Given the description of an element on the screen output the (x, y) to click on. 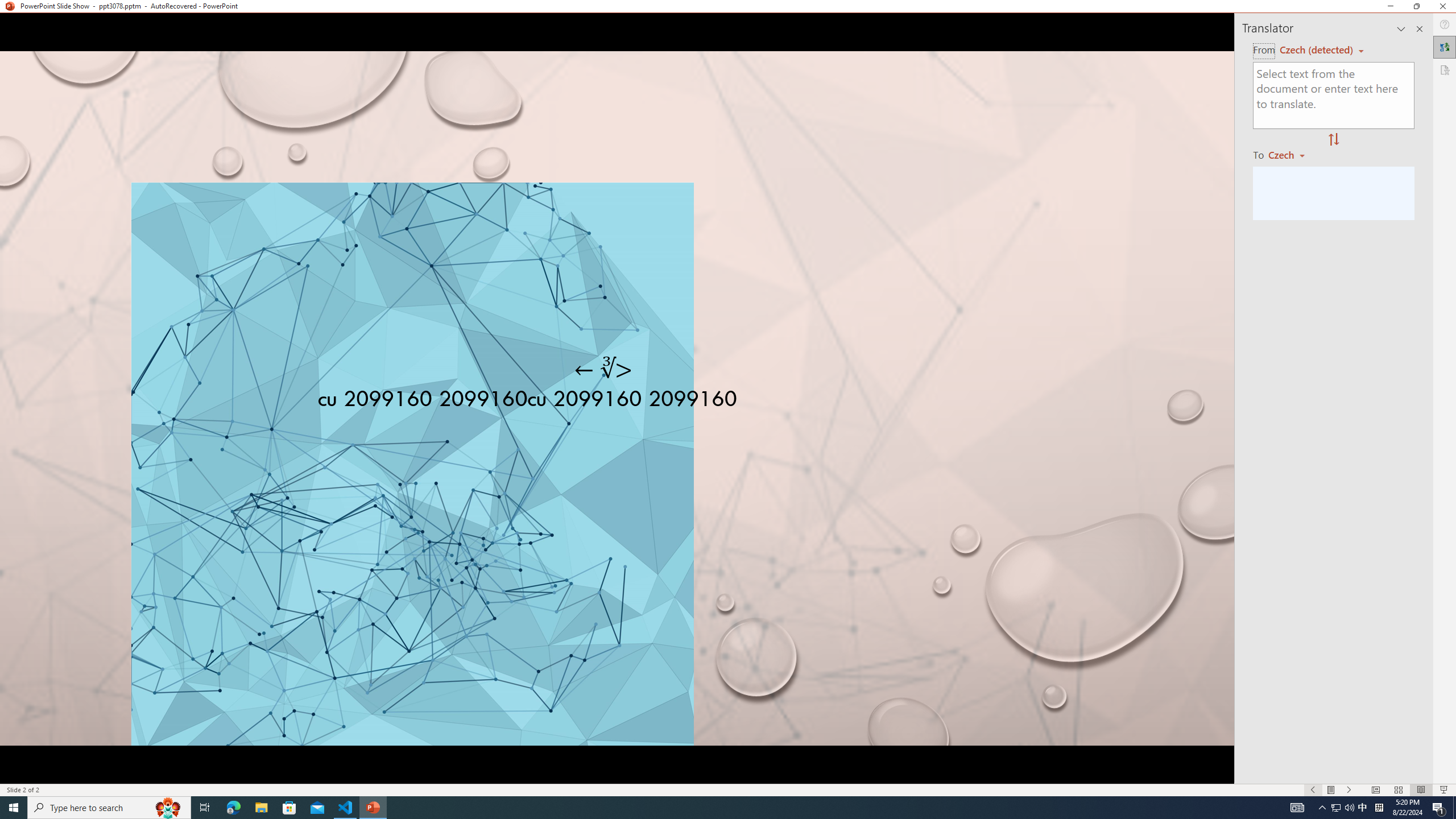
Class: MsoCommandBar (728, 789)
Czech (detected) (1317, 50)
